Given the description of an element on the screen output the (x, y) to click on. 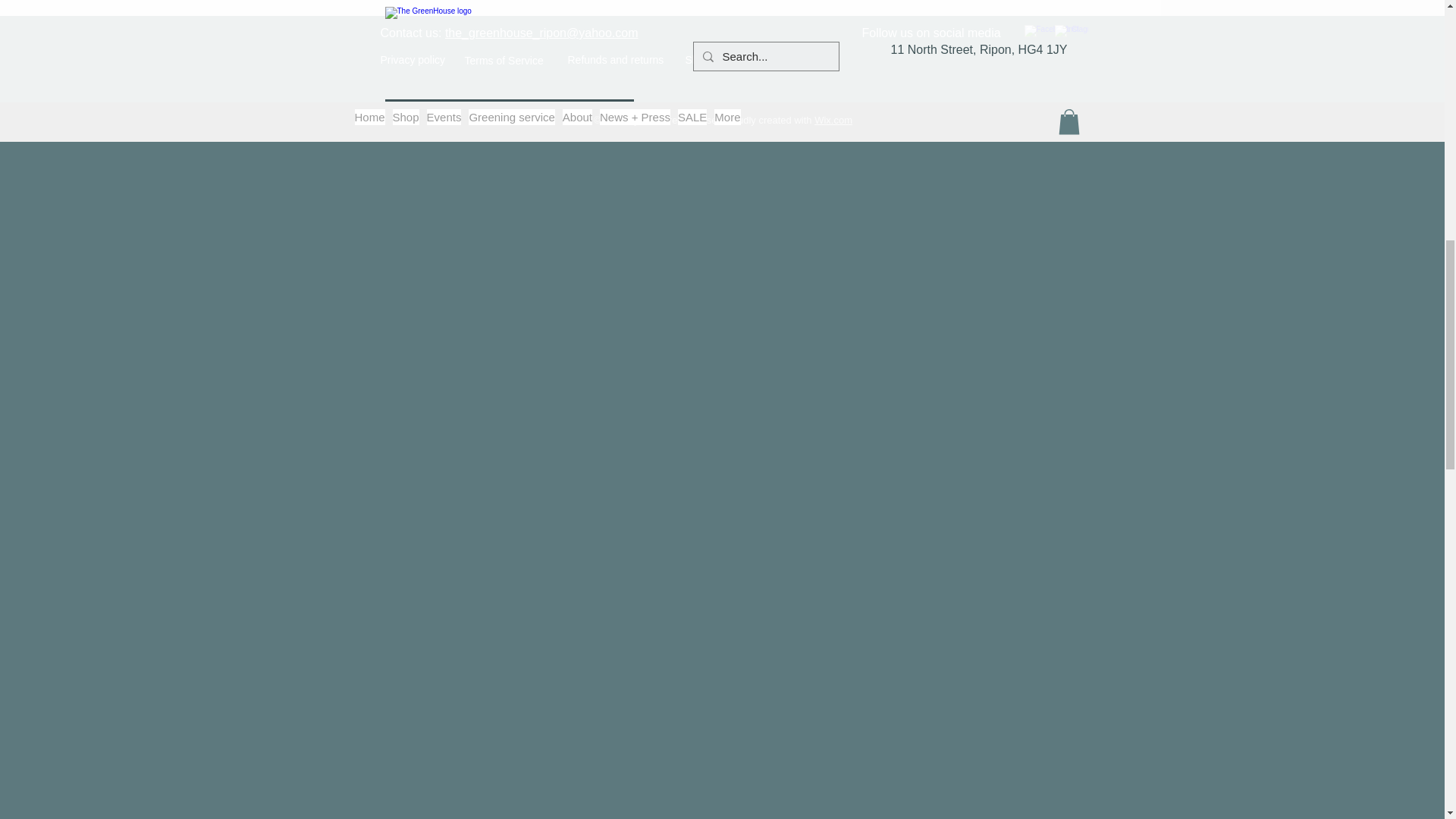
Privacy policy (412, 60)
Refunds and returns (615, 60)
Shipping policy (721, 60)
Terms of Service (503, 60)
Wix.com (832, 120)
